Given the description of an element on the screen output the (x, y) to click on. 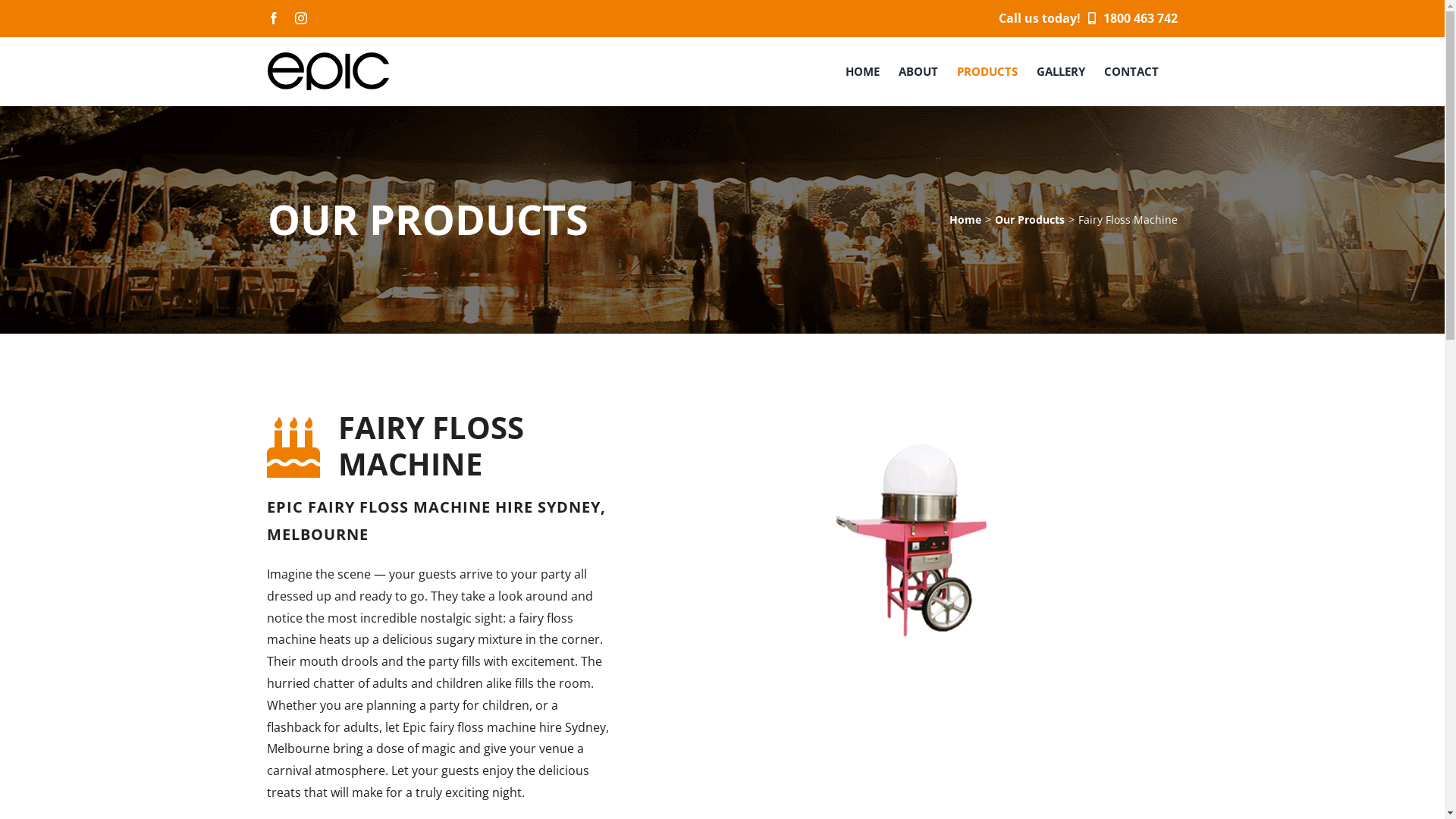
Epic Party Hire Fairy Floss Machine Element type: hover (911, 537)
GALLERY Element type: text (1059, 71)
Our Products Element type: text (1029, 219)
Facebook Element type: text (272, 18)
HOME Element type: text (861, 71)
Home Element type: text (965, 219)
CONTACT Element type: text (1131, 71)
ABOUT Element type: text (917, 71)
Instagram Element type: text (300, 18)
PRODUCTS Element type: text (987, 71)
1800 463 742 Element type: text (1127, 17)
